Given the description of an element on the screen output the (x, y) to click on. 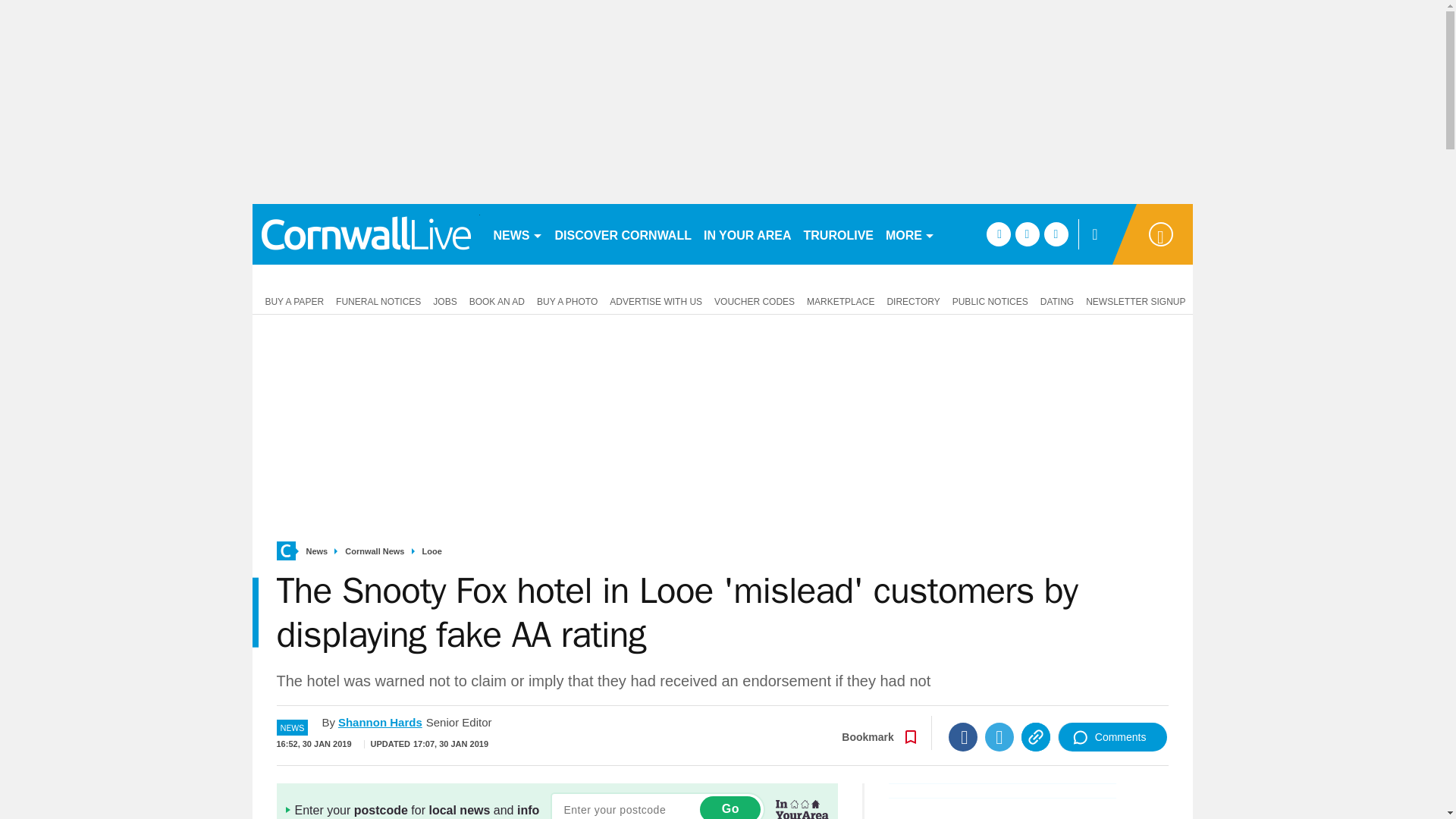
DISCOVER CORNWALL (622, 233)
MORE (909, 233)
instagram (1055, 233)
Comments (1112, 736)
cornwalllive (365, 233)
TRUROLIVE (838, 233)
IN YOUR AREA (747, 233)
Go (730, 807)
twitter (1026, 233)
facebook (997, 233)
NEWS (517, 233)
Twitter (999, 736)
Facebook (962, 736)
